Given the description of an element on the screen output the (x, y) to click on. 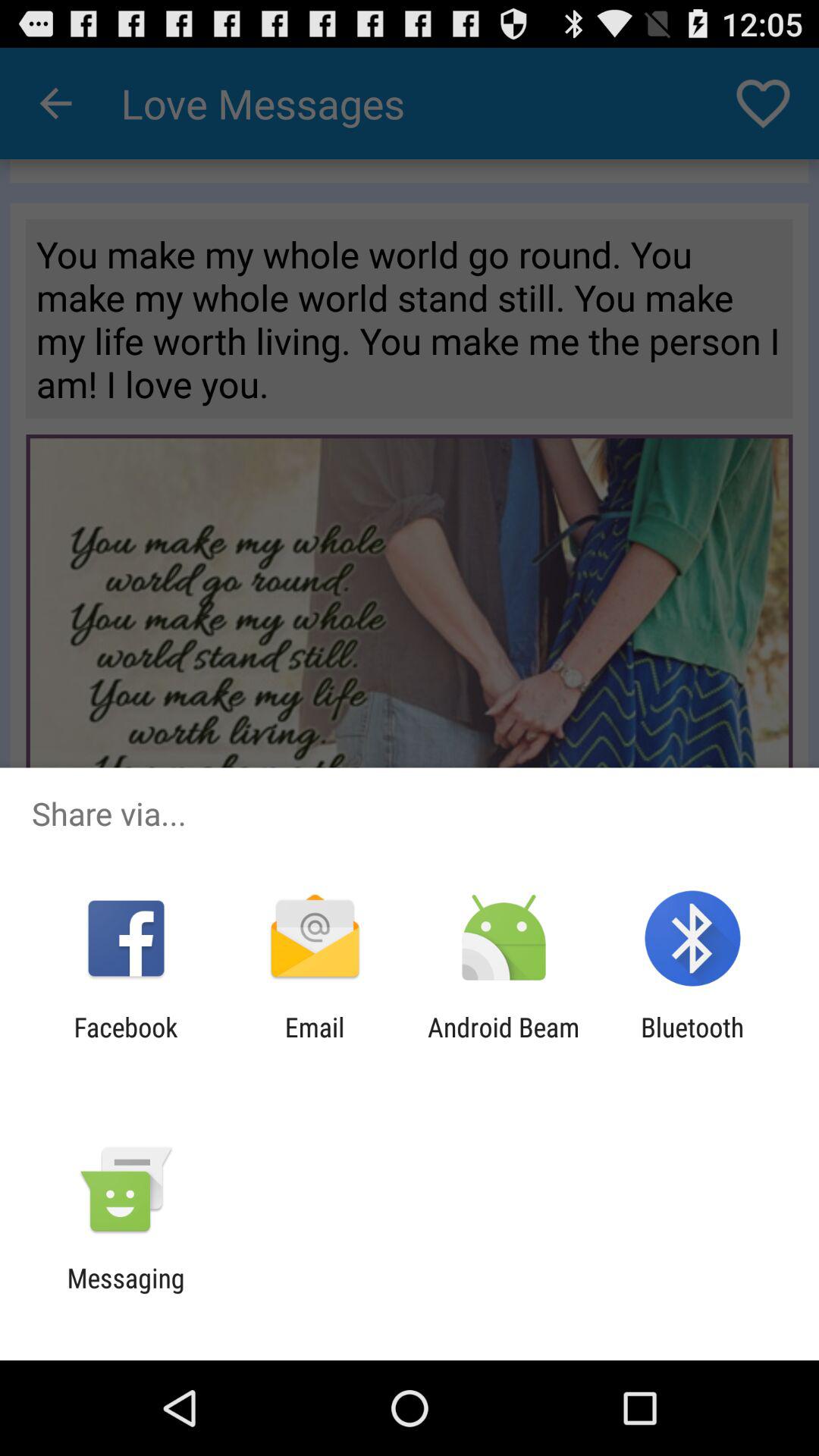
select item next to the email (503, 1042)
